Given the description of an element on the screen output the (x, y) to click on. 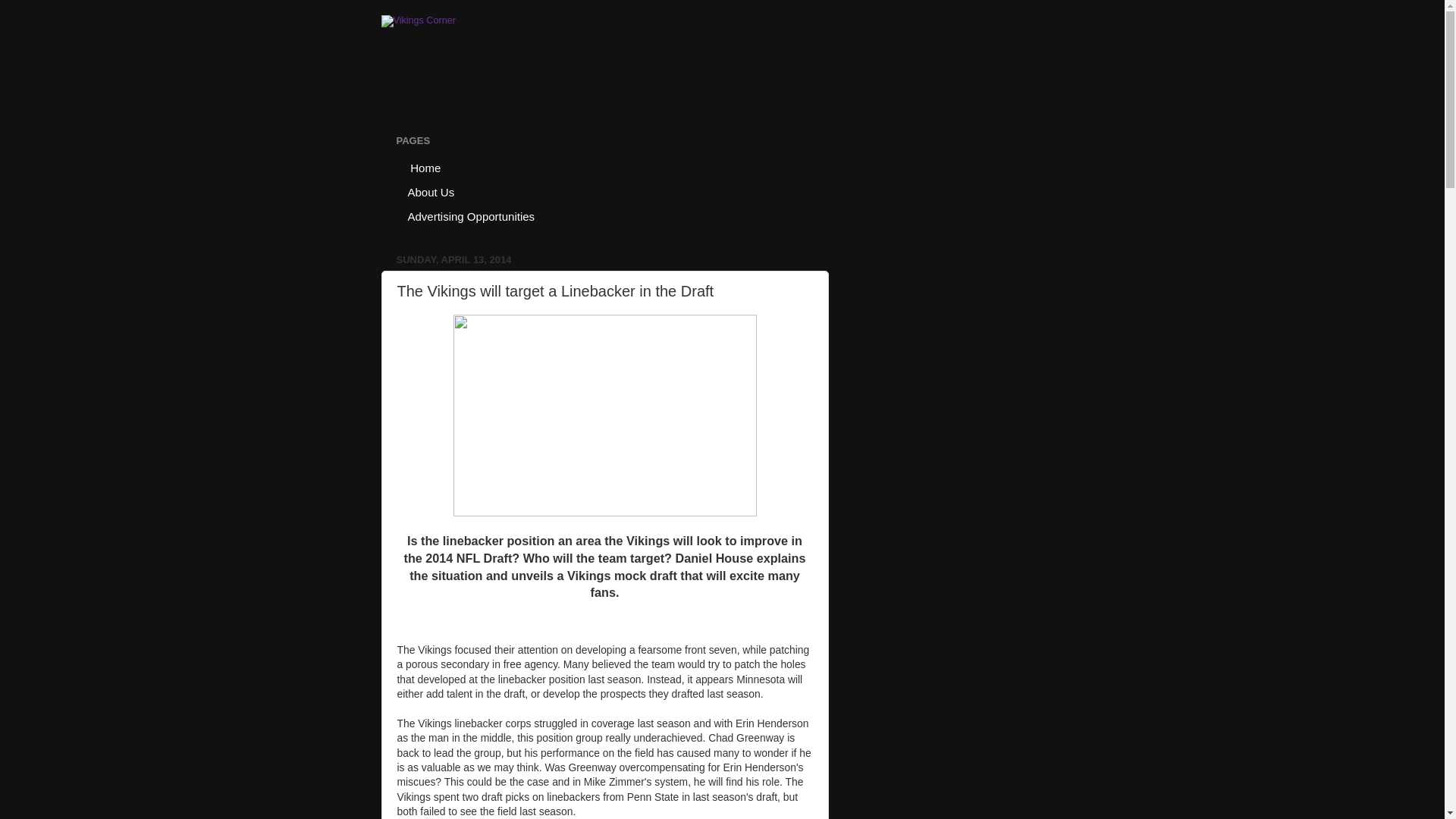
About Us (430, 191)
Home (424, 167)
Advertising Opportunities (471, 215)
